Given the description of an element on the screen output the (x, y) to click on. 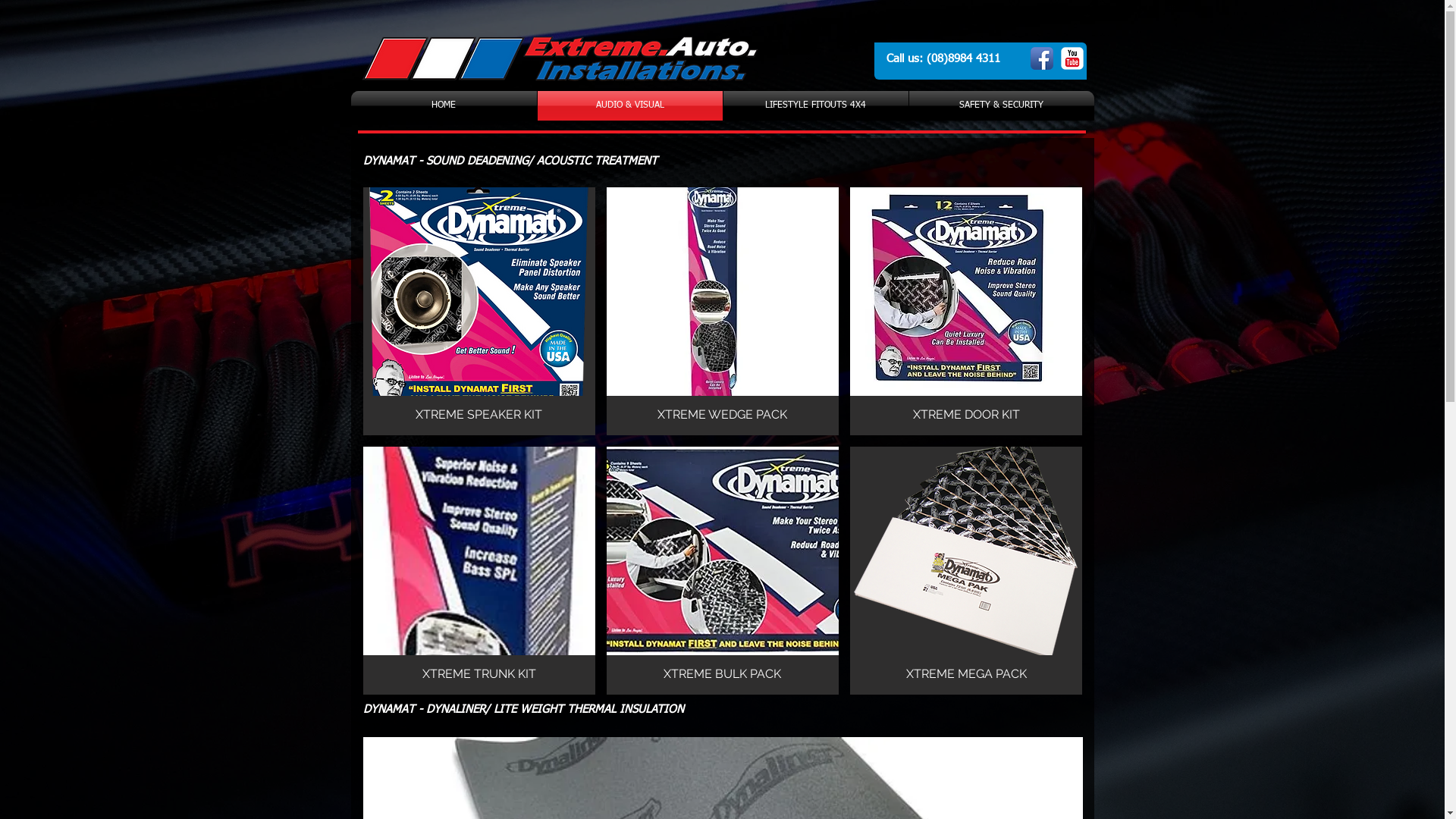
HOME Element type: text (443, 105)
LIFESTYLE FITOUTS 4X4 Element type: text (815, 105)
AUDIO & VISUAL Element type: text (628, 105)
SAFETY & SECURITY Element type: text (1000, 105)
